Given the description of an element on the screen output the (x, y) to click on. 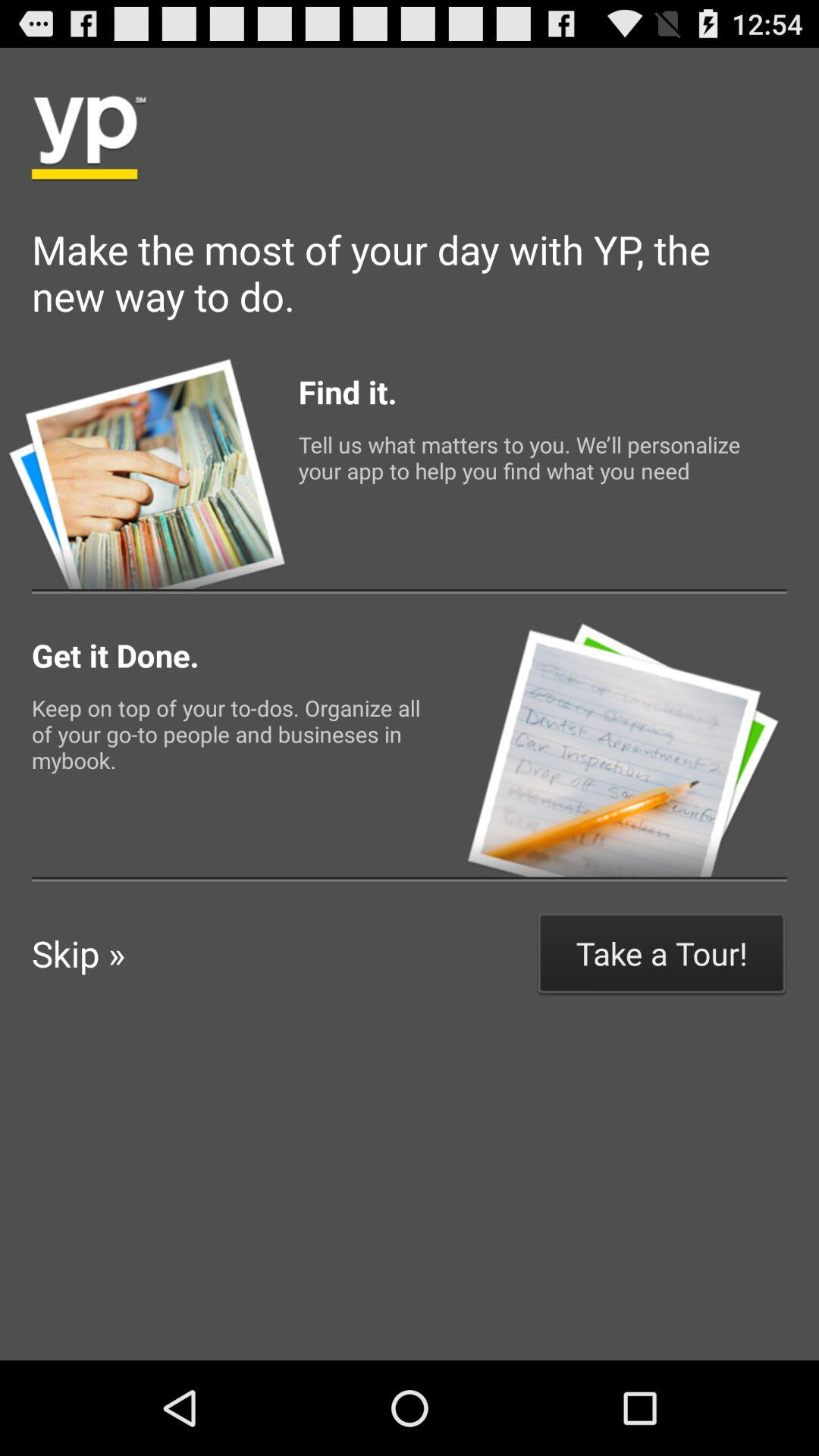
swipe until the take a tour! (661, 953)
